Given the description of an element on the screen output the (x, y) to click on. 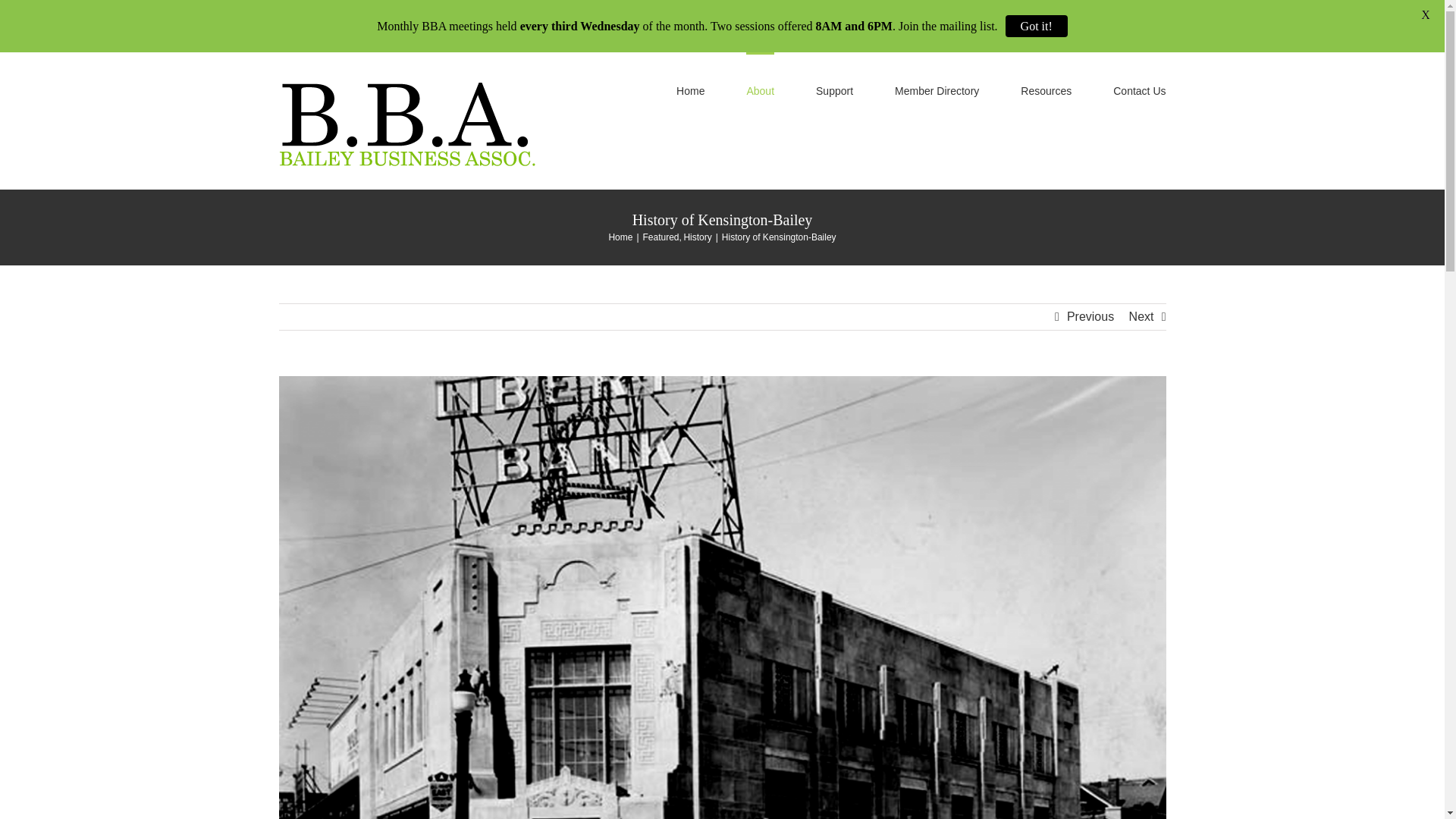
History (696, 236)
Next (1141, 316)
Previous (1090, 316)
Featured (661, 236)
Member Directory (936, 89)
Home (619, 236)
